Given the description of an element on the screen output the (x, y) to click on. 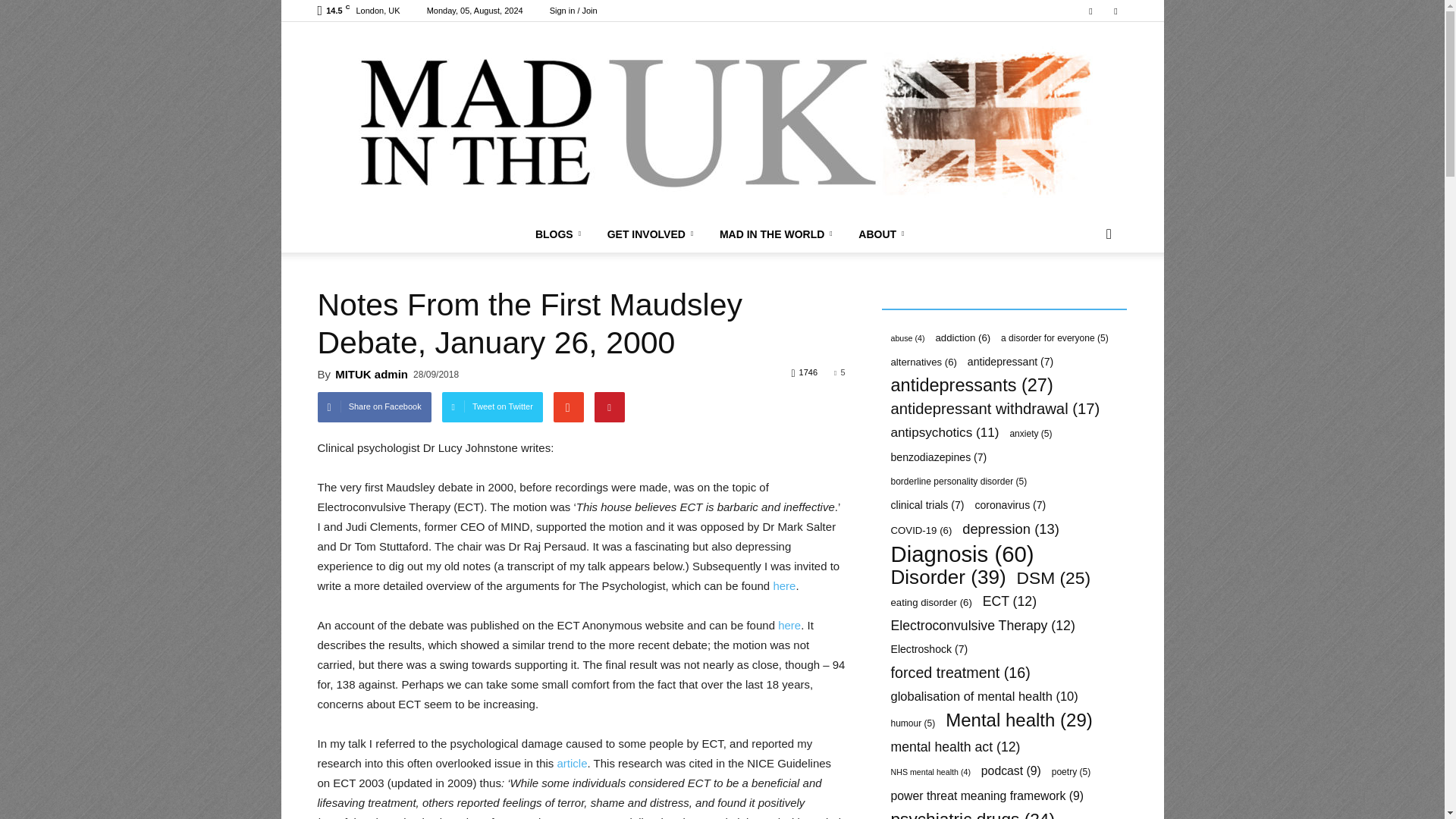
Twitter (1114, 10)
Facebook (1090, 10)
Posts by MITUK admin (370, 373)
